Given the description of an element on the screen output the (x, y) to click on. 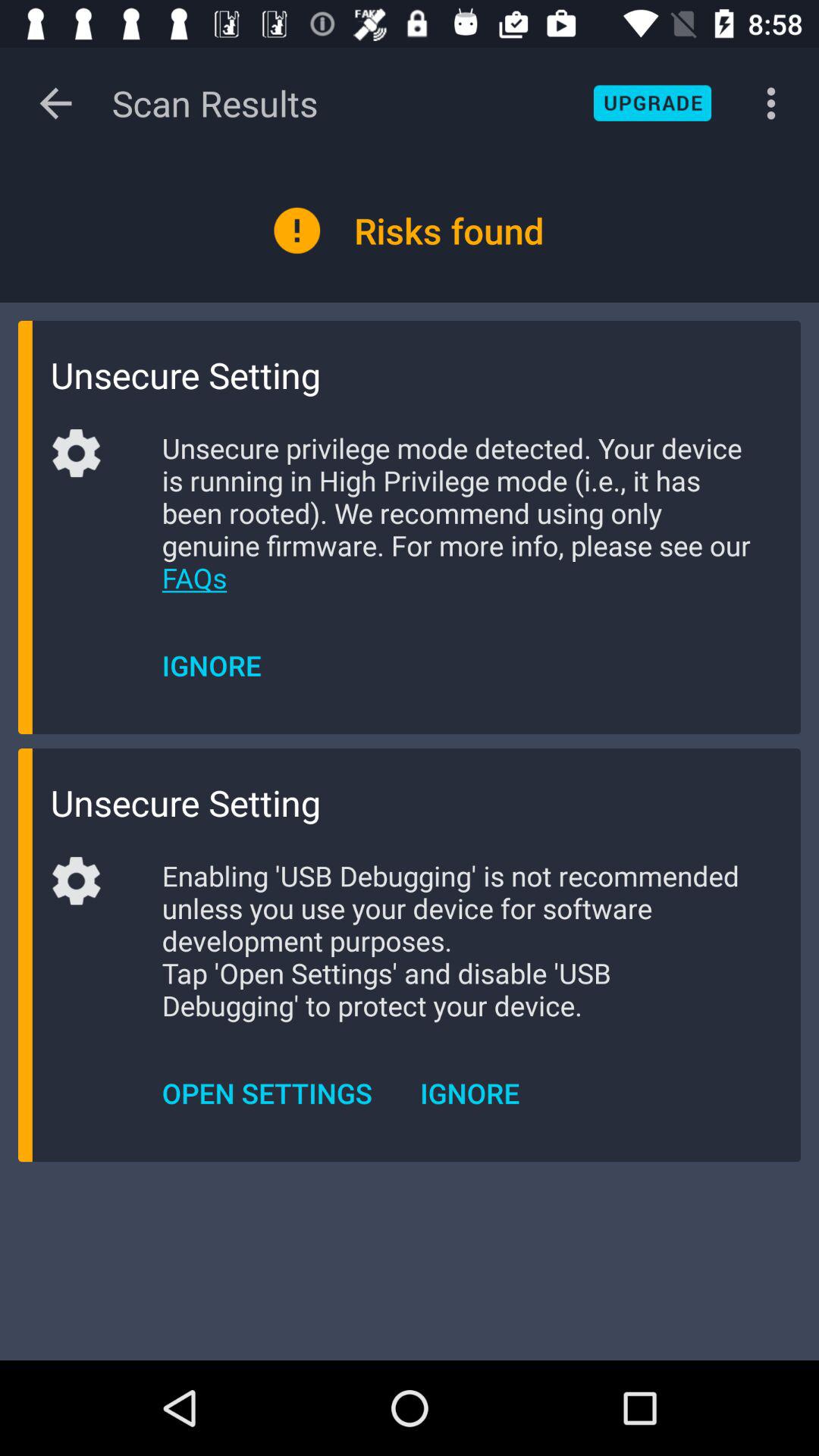
open item to the right of the scan results (652, 103)
